Given the description of an element on the screen output the (x, y) to click on. 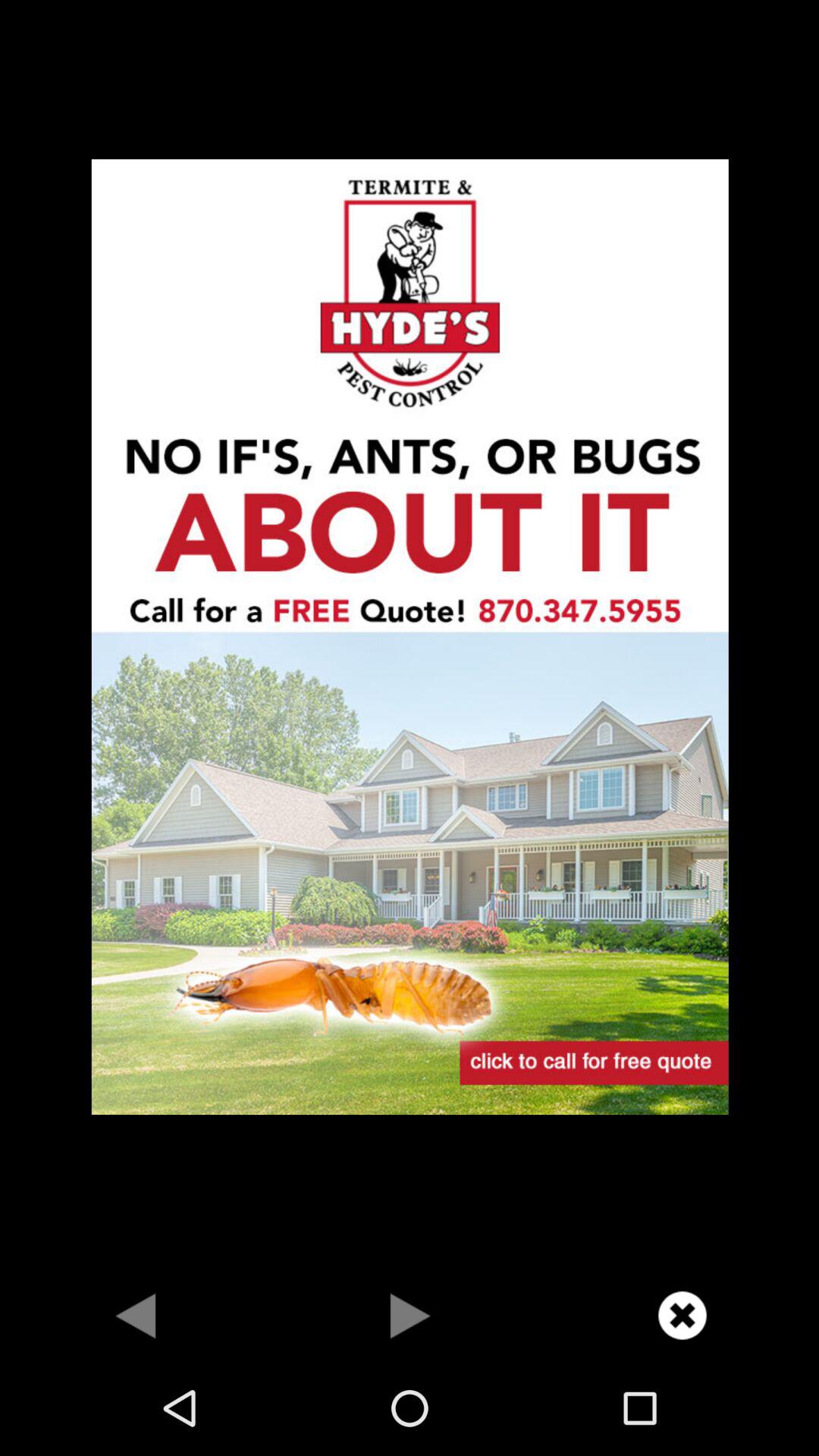
go back (136, 1315)
